Given the description of an element on the screen output the (x, y) to click on. 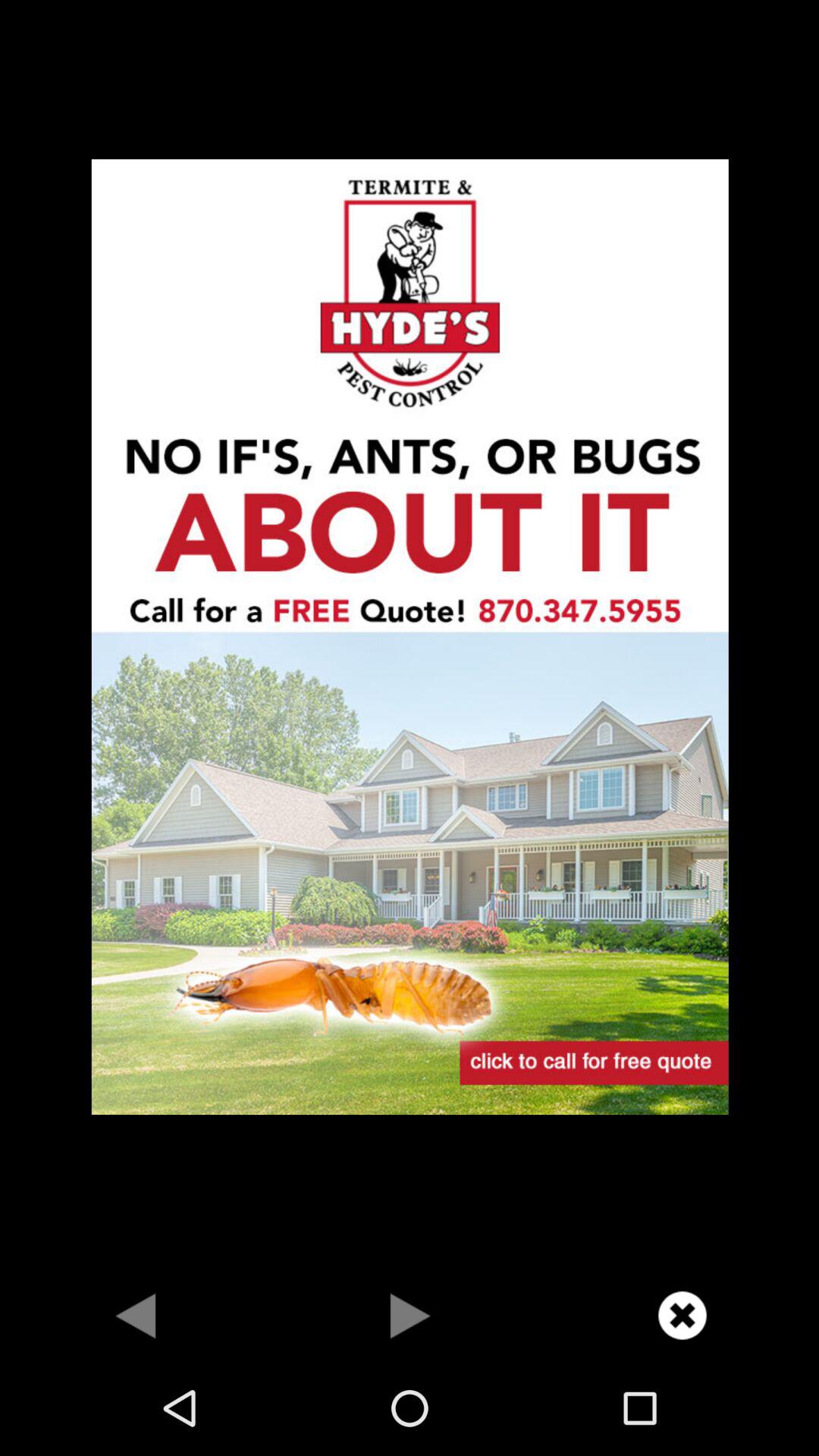
go back (136, 1315)
